Given the description of an element on the screen output the (x, y) to click on. 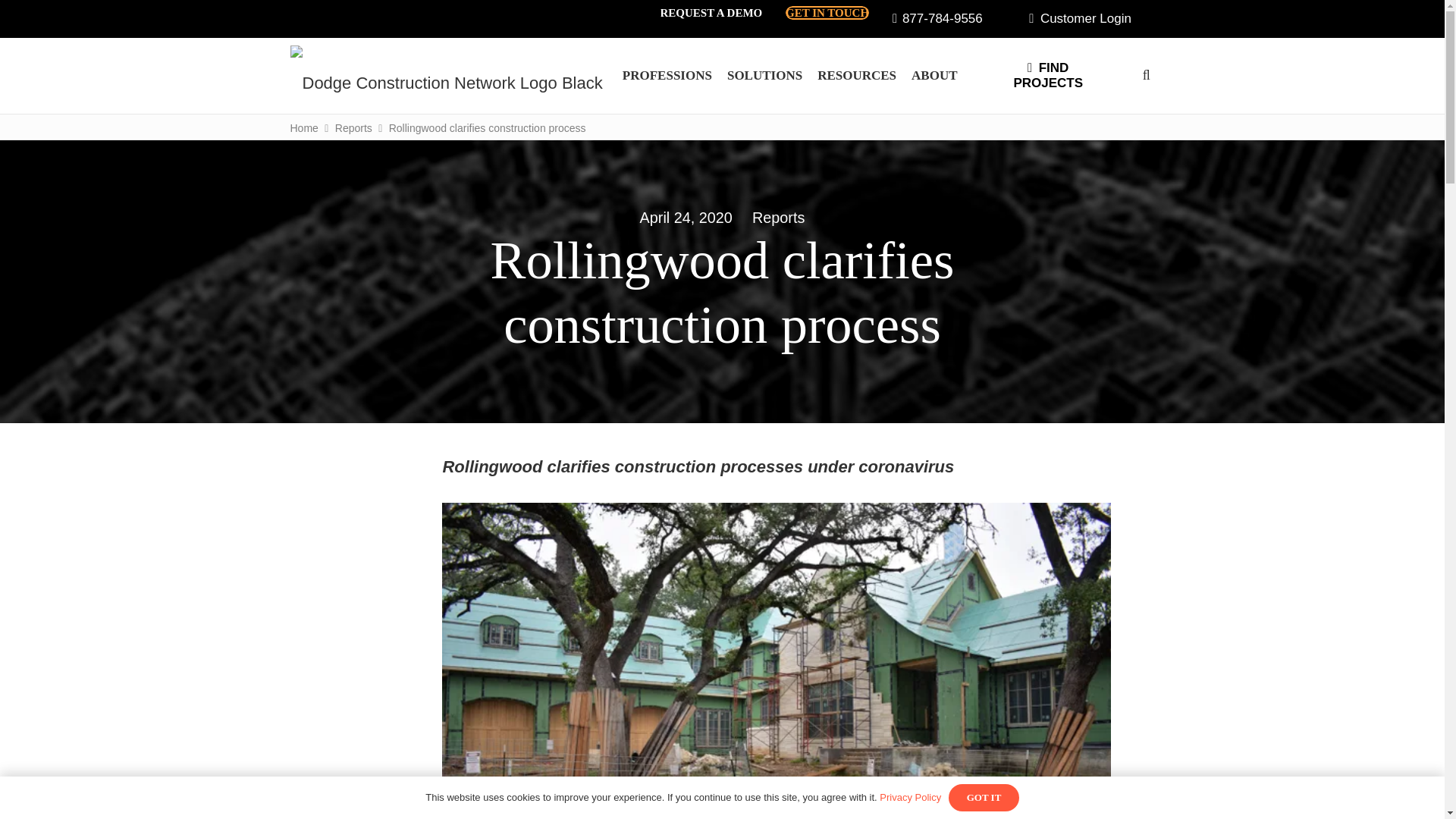
GET IN TOUCH (827, 12)
877-784-9556 (937, 18)
Customer Login (1080, 18)
SOLUTIONS (764, 75)
REQUEST A DEMO (710, 12)
ABOUT (933, 75)
RESOURCES (856, 75)
PROFESSIONS (666, 75)
